Given the description of an element on the screen output the (x, y) to click on. 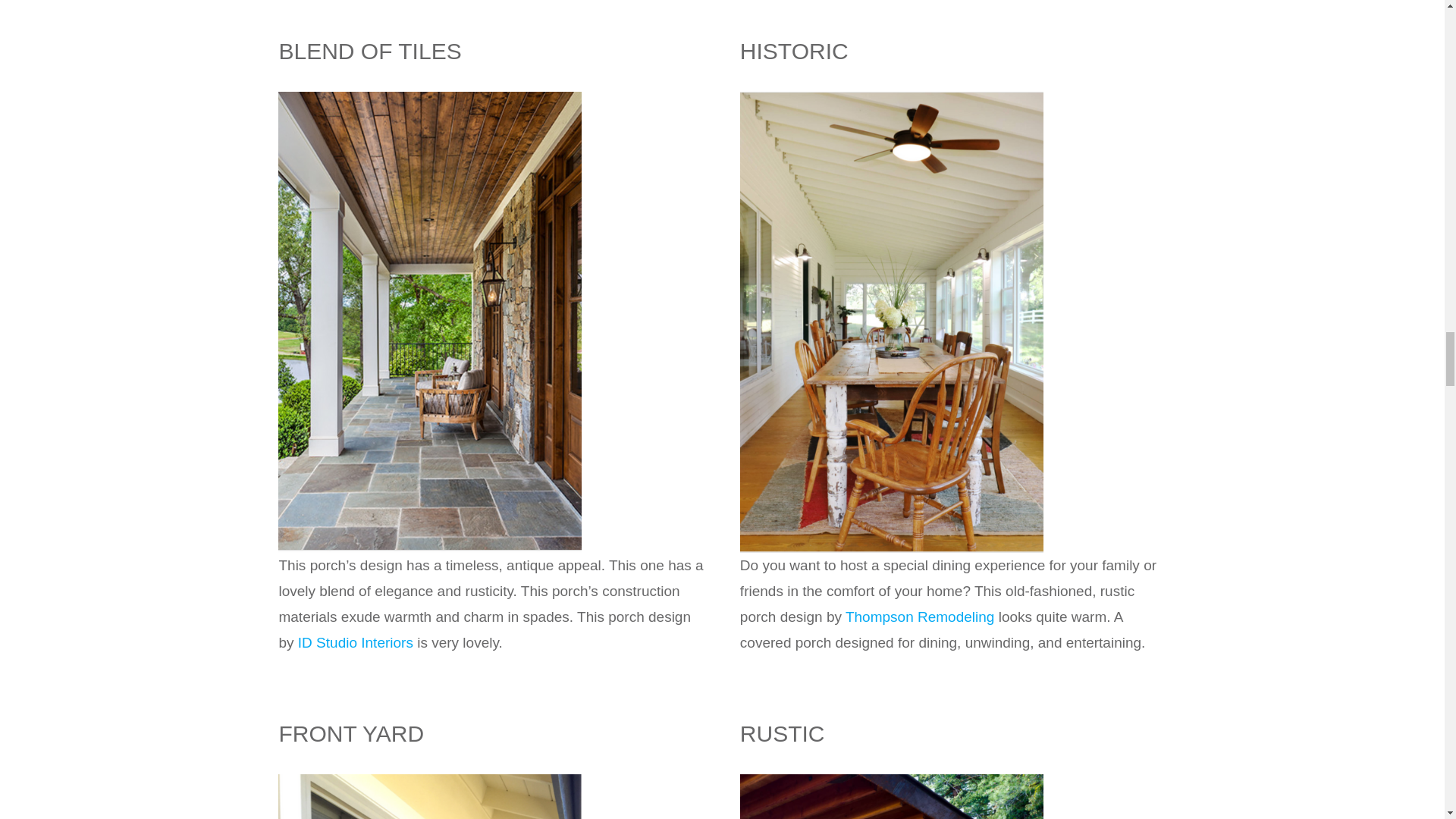
front-back-porch-ideas-sebring-design-build-14 (891, 781)
front-back-porch-ideas-sebring-design-build-11 (429, 98)
front-back-porch-ideas-sebring-design-build-13 (429, 781)
front-back-porch-ideas-sebring-design-build-12 (891, 98)
